Given the description of an element on the screen output the (x, y) to click on. 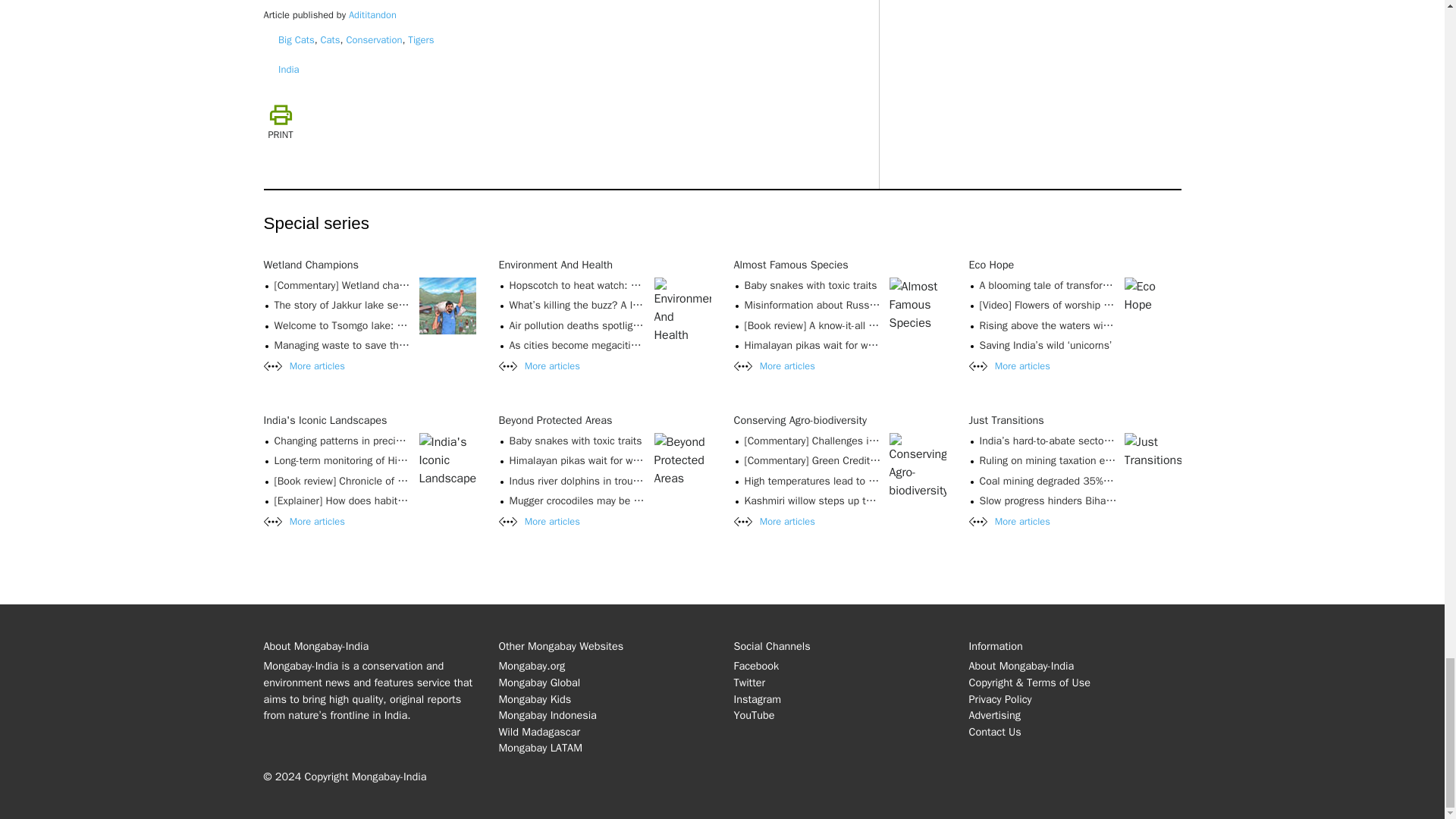
Tigers (420, 39)
Conservation (373, 39)
Posts by Adititandon (372, 15)
Big Cats (296, 39)
India (288, 69)
Adititandon (372, 15)
Cats (330, 39)
